Given the description of an element on the screen output the (x, y) to click on. 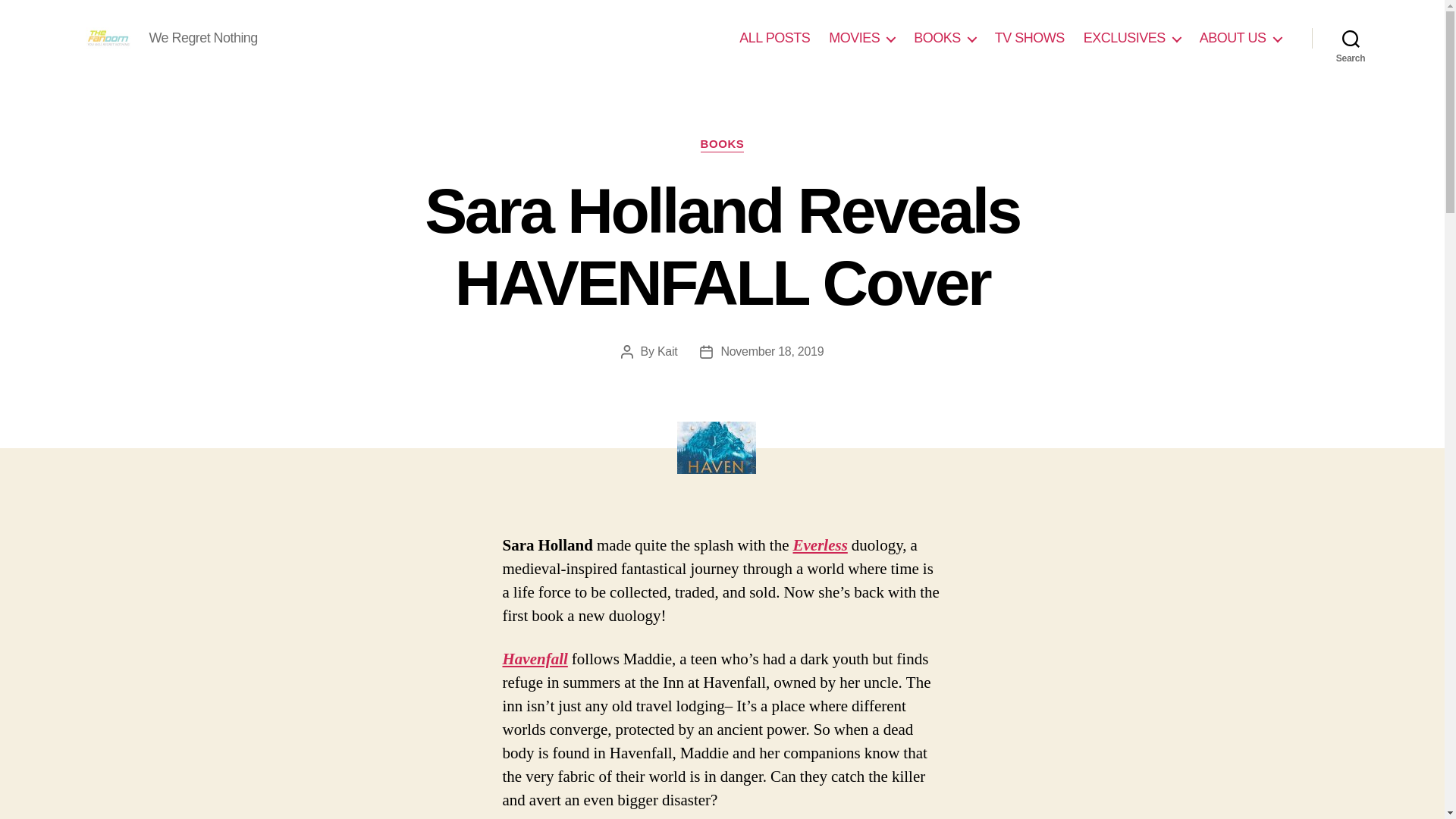
ABOUT US (1240, 38)
EXCLUSIVES (1131, 38)
Kait (668, 350)
MOVIES (861, 38)
Search (1350, 37)
TV SHOWS (1029, 38)
BOOKS (944, 38)
BOOKS (722, 144)
ALL POSTS (774, 38)
